Given the description of an element on the screen output the (x, y) to click on. 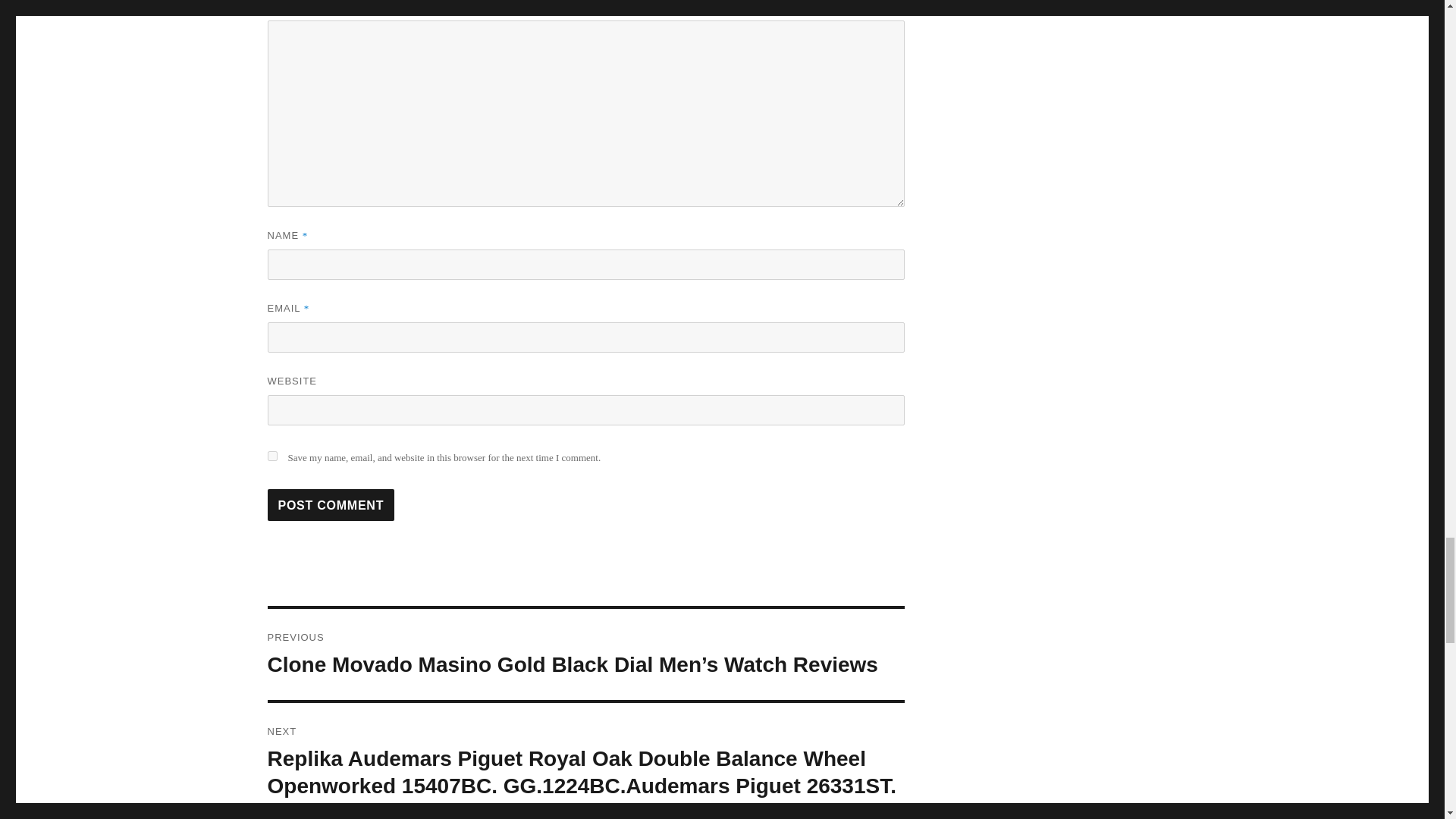
Post Comment (330, 504)
yes (271, 456)
Post Comment (330, 504)
